Given the description of an element on the screen output the (x, y) to click on. 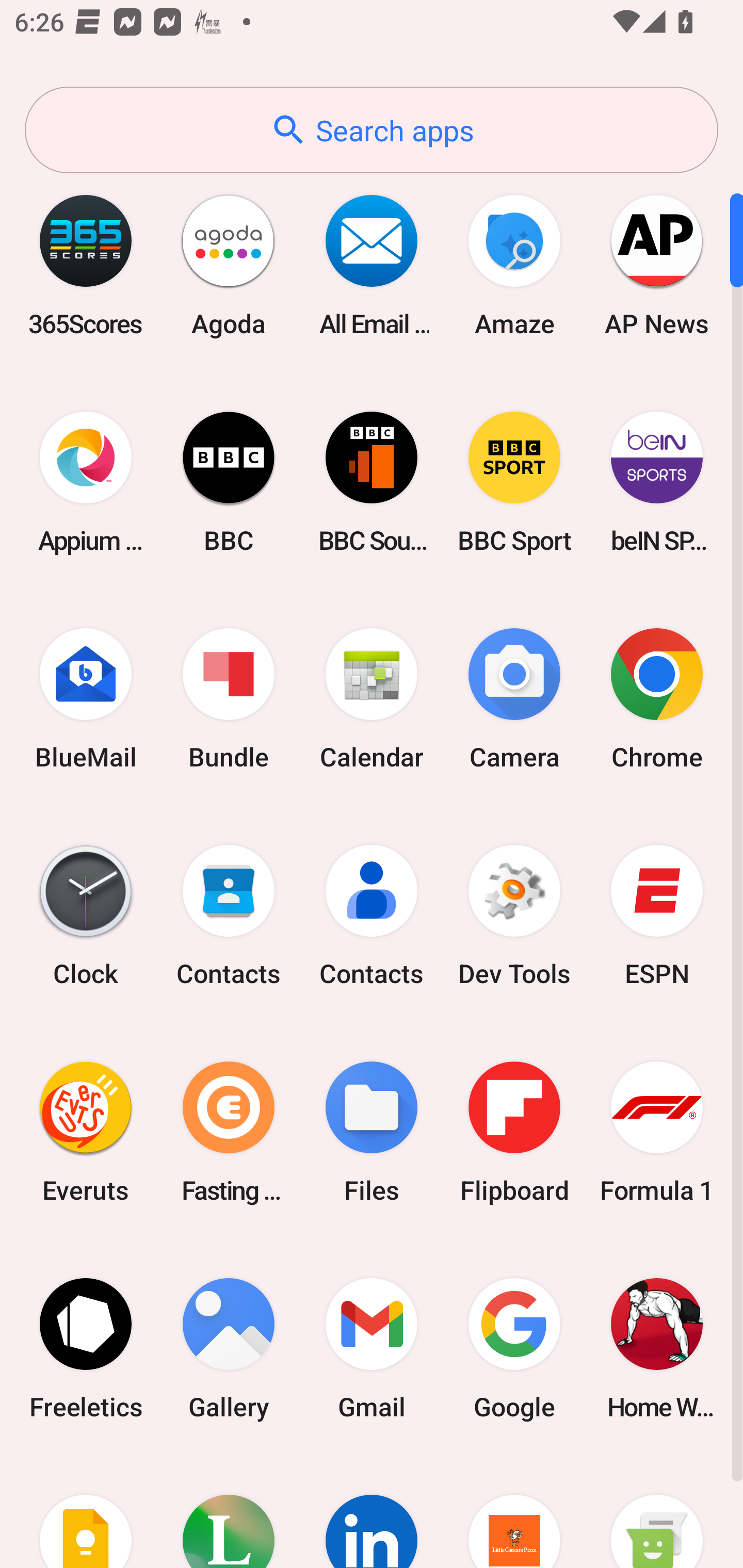
  Search apps (371, 130)
365Scores (85, 264)
Agoda (228, 264)
All Email Connect (371, 264)
Amaze (514, 264)
AP News (656, 264)
Appium Settings (85, 482)
BBC (228, 482)
BBC Sounds (371, 482)
BBC Sport (514, 482)
beIN SPORTS (656, 482)
BlueMail (85, 699)
Bundle (228, 699)
Calendar (371, 699)
Camera (514, 699)
Chrome (656, 699)
Clock (85, 915)
Contacts (228, 915)
Contacts (371, 915)
Dev Tools (514, 915)
ESPN (656, 915)
Everuts (85, 1131)
Fasting Coach (228, 1131)
Files (371, 1131)
Flipboard (514, 1131)
Formula 1 (656, 1131)
Freeletics (85, 1348)
Gallery (228, 1348)
Gmail (371, 1348)
Google (514, 1348)
Home Workout (656, 1348)
